Given the description of an element on the screen output the (x, y) to click on. 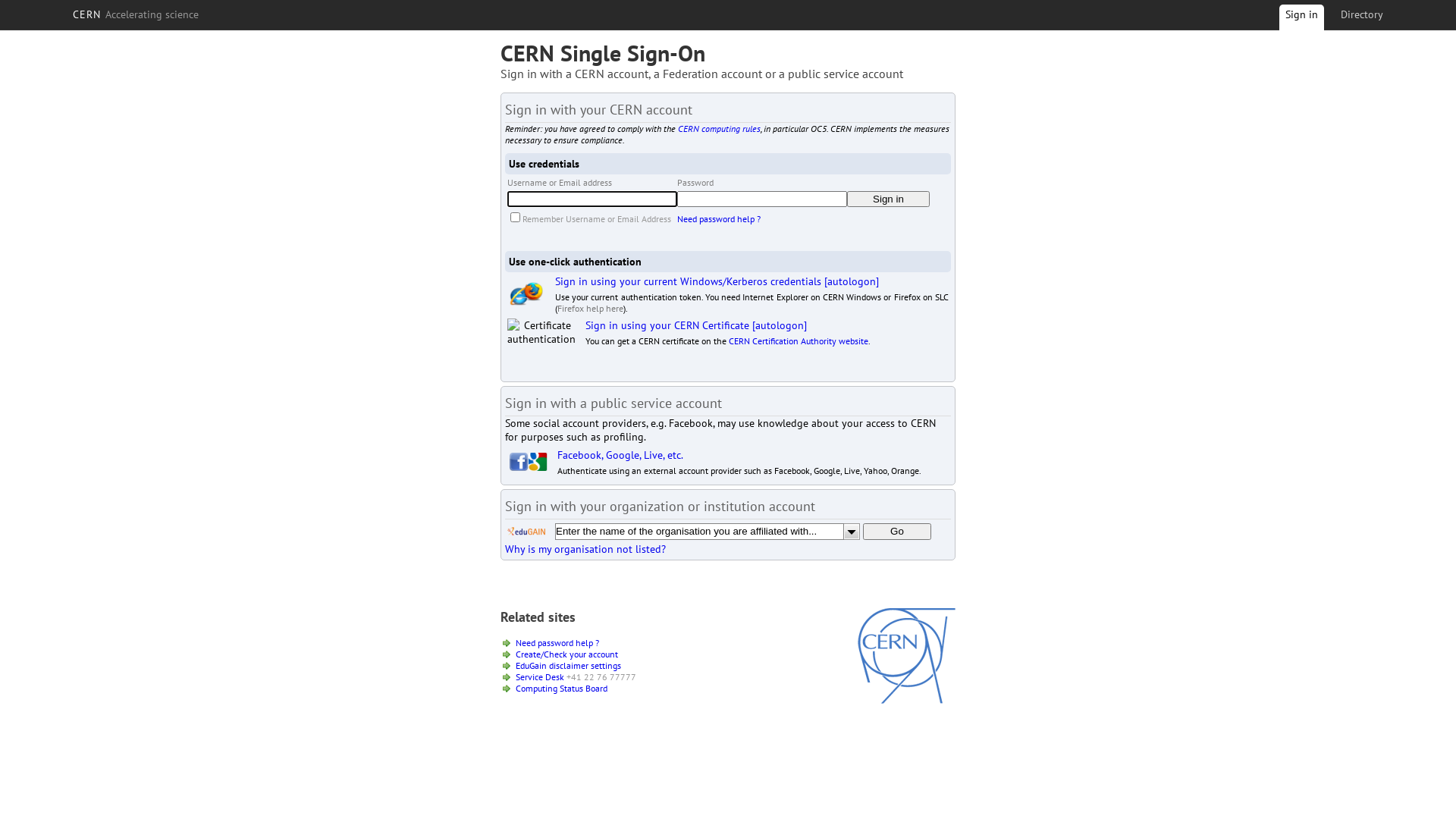
CERN Element type: hover (906, 699)
Directory Element type: text (1361, 14)
[autologon] Element type: text (779, 325)
CERN computing rules Element type: text (718, 128)
Sign in Element type: text (888, 199)
Sign in using your current Windows/Kerberos credentials Element type: text (688, 281)
[autologon] Element type: text (851, 281)
Computing Status Board Element type: text (561, 687)
Go Element type: text (896, 531)
CERN Certification Authority website Element type: text (798, 340)
Enter your Username or Email Address Element type: hover (592, 199)
CERN Single Sign-On Element type: text (602, 52)
Why is my organisation not listed? Element type: text (585, 548)
CERN Accelerating science Element type: text (135, 14)
Service Desk Element type: text (539, 676)
Sign in Element type: text (1301, 19)
Need password help ? Element type: text (718, 218)
EduGain disclaimer settings Element type: text (568, 665)
Sign in using your CERN Certificate Element type: text (667, 325)
Create/Check your account Element type: text (566, 653)
Firefox help here Element type: text (590, 307)
[show debug information] Element type: text (549, 565)
Facebook, Google, Live, etc. Element type: text (620, 454)
Need password help ? Element type: text (557, 642)
